Given the description of an element on the screen output the (x, y) to click on. 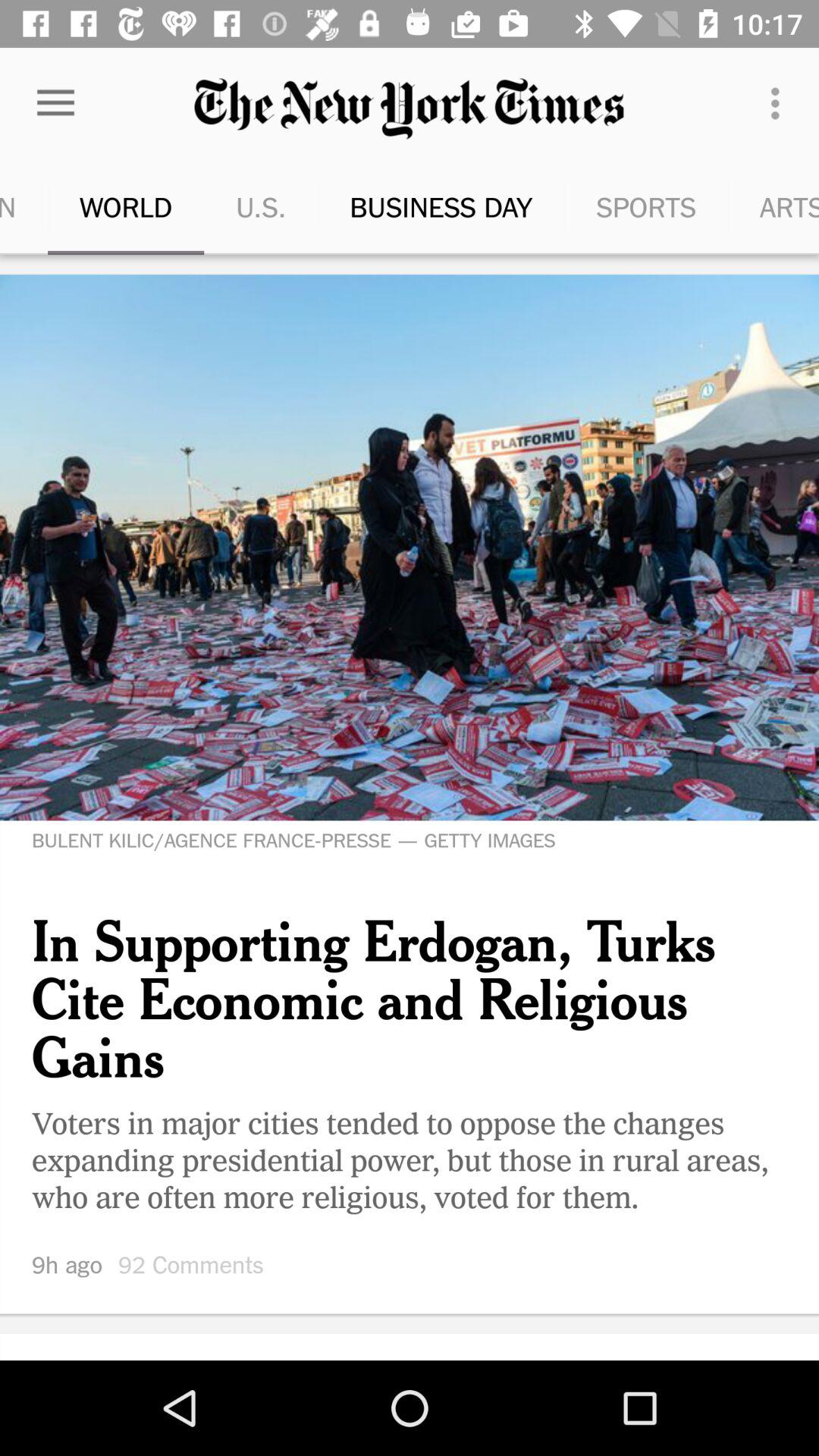
launch the u.s. item (222, 206)
